Given the description of an element on the screen output the (x, y) to click on. 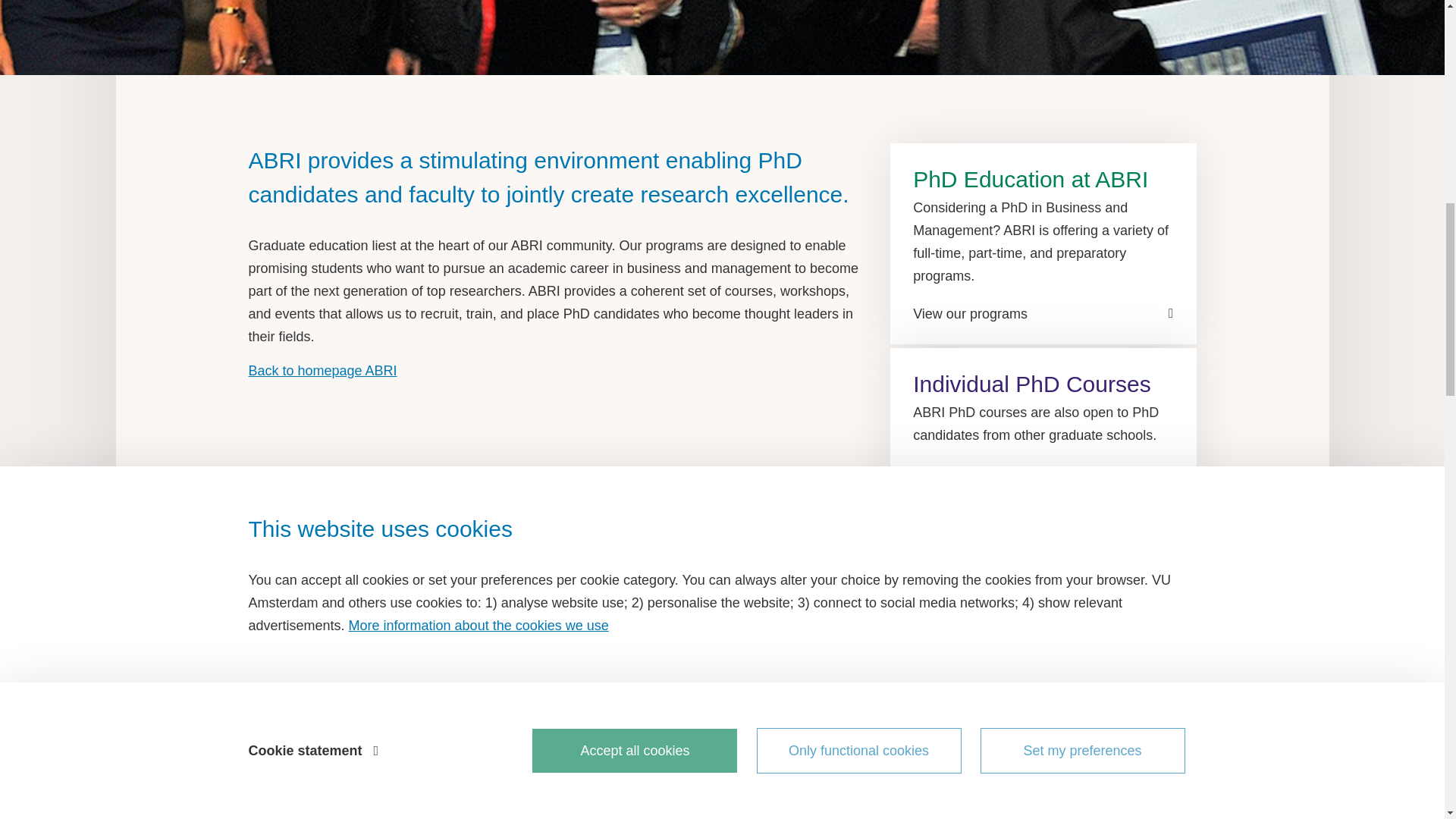
PhD students (725, 37)
Part-time PhD in Business (721, 811)
Back to homepage ABRI (321, 370)
PhD in Business and Management (721, 755)
